Given the description of an element on the screen output the (x, y) to click on. 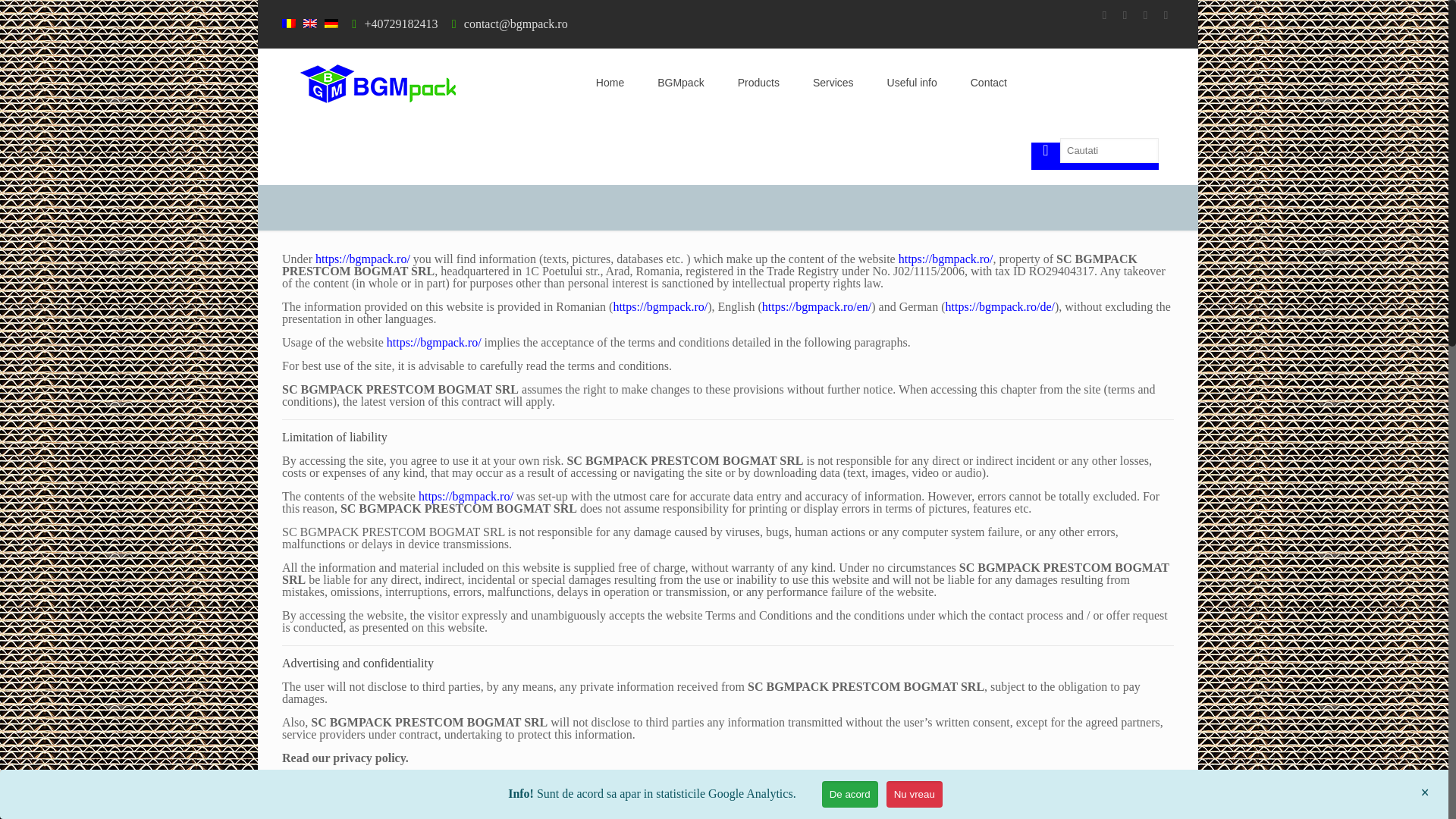
Contact (988, 82)
Facebook (1104, 15)
Useful info (912, 82)
BGMpack (680, 82)
Home (609, 82)
Services (833, 82)
LinkedIn (1165, 15)
Twitter (1145, 15)
Products (758, 82)
BGMpack (382, 82)
